Given the description of an element on the screen output the (x, y) to click on. 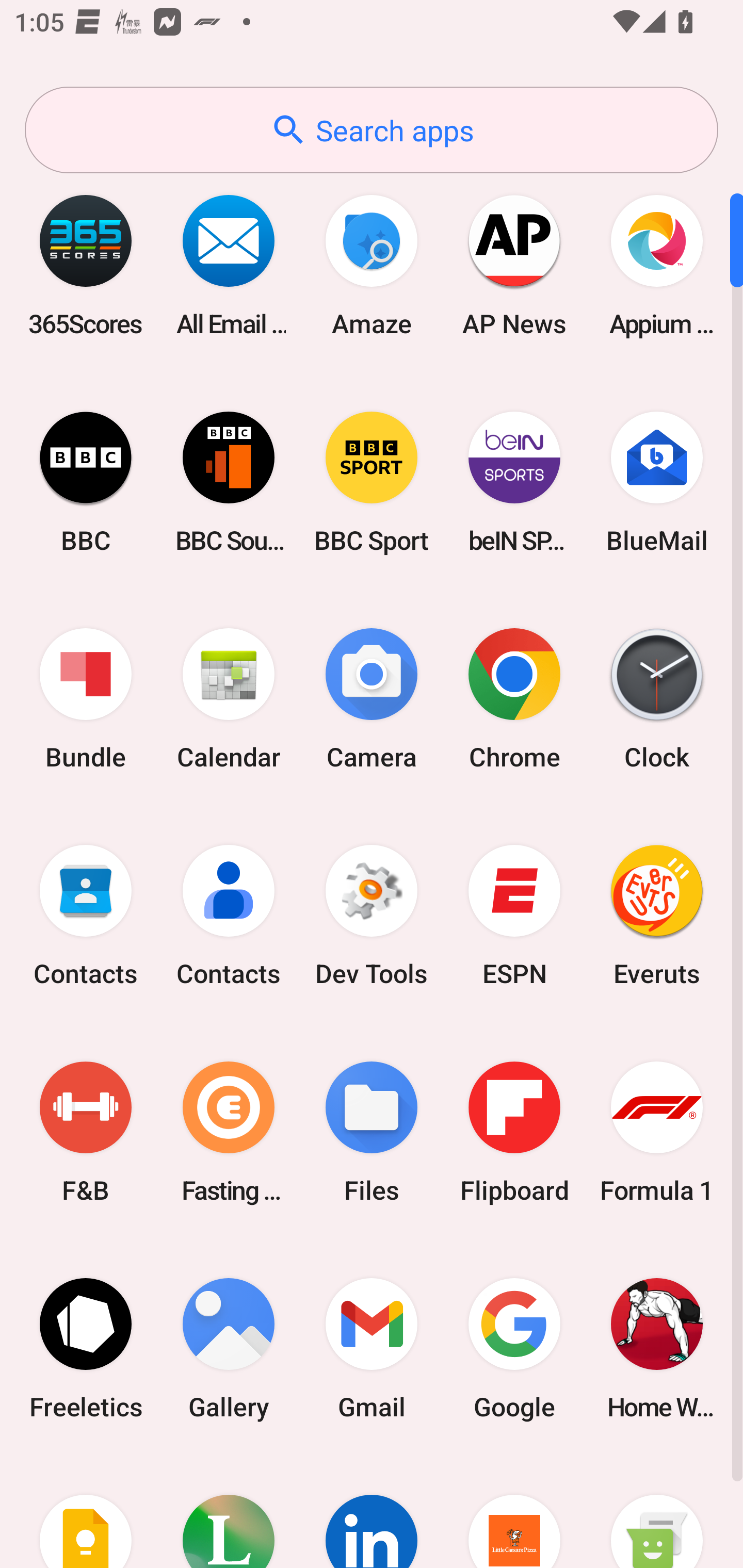
  Search apps (371, 130)
365Scores (85, 264)
All Email Connect (228, 264)
Amaze (371, 264)
AP News (514, 264)
Appium Settings (656, 264)
BBC (85, 482)
BBC Sounds (228, 482)
BBC Sport (371, 482)
beIN SPORTS (514, 482)
BlueMail (656, 482)
Bundle (85, 699)
Calendar (228, 699)
Camera (371, 699)
Chrome (514, 699)
Clock (656, 699)
Contacts (85, 915)
Contacts (228, 915)
Dev Tools (371, 915)
ESPN (514, 915)
Everuts (656, 915)
F&B (85, 1131)
Fasting Coach (228, 1131)
Files (371, 1131)
Flipboard (514, 1131)
Formula 1 (656, 1131)
Freeletics (85, 1348)
Gallery (228, 1348)
Gmail (371, 1348)
Google (514, 1348)
Home Workout (656, 1348)
